Given the description of an element on the screen output the (x, y) to click on. 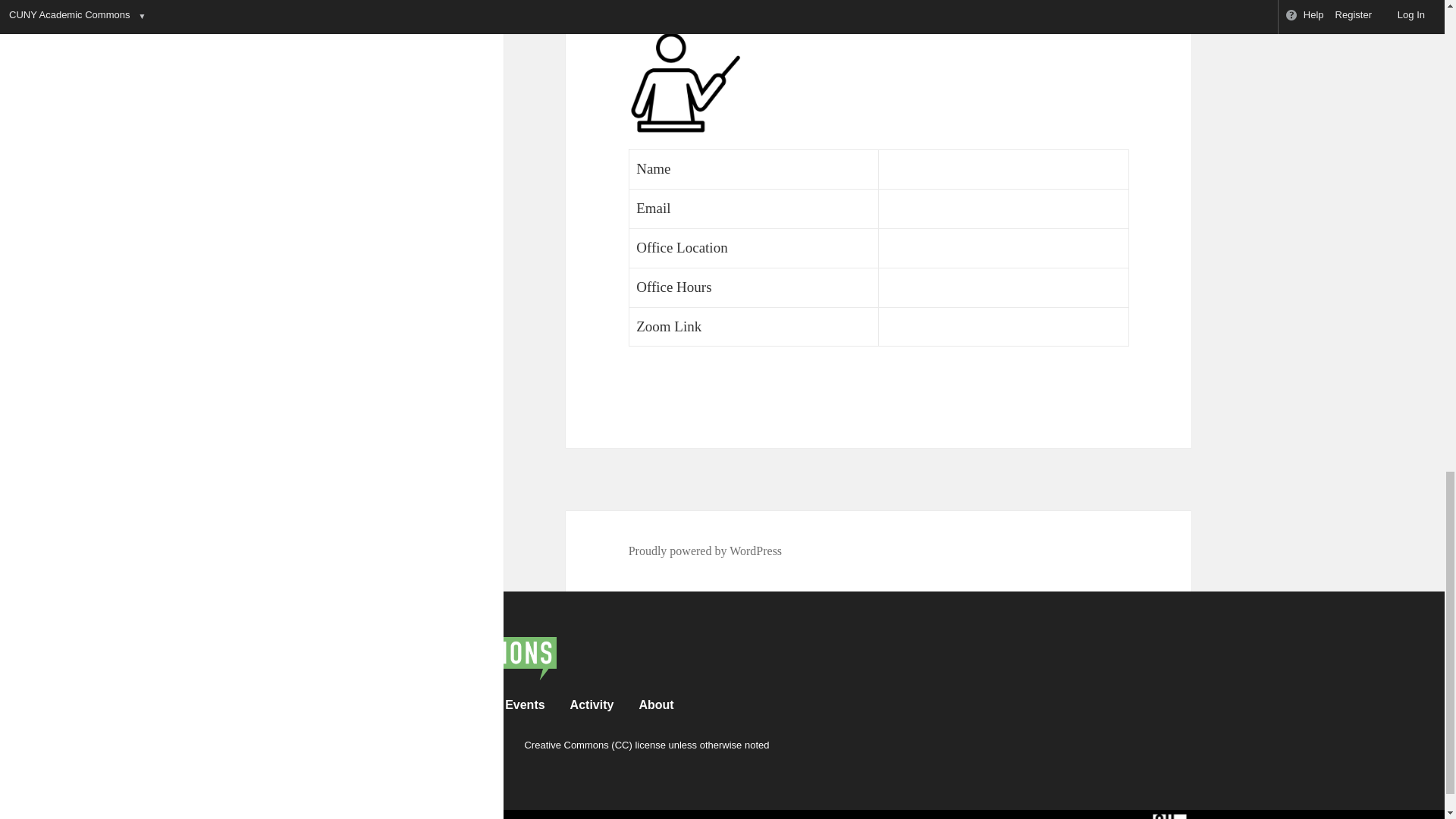
People (263, 704)
Groups (330, 704)
Sites (391, 704)
Proudly powered by WordPress (704, 550)
